Given the description of an element on the screen output the (x, y) to click on. 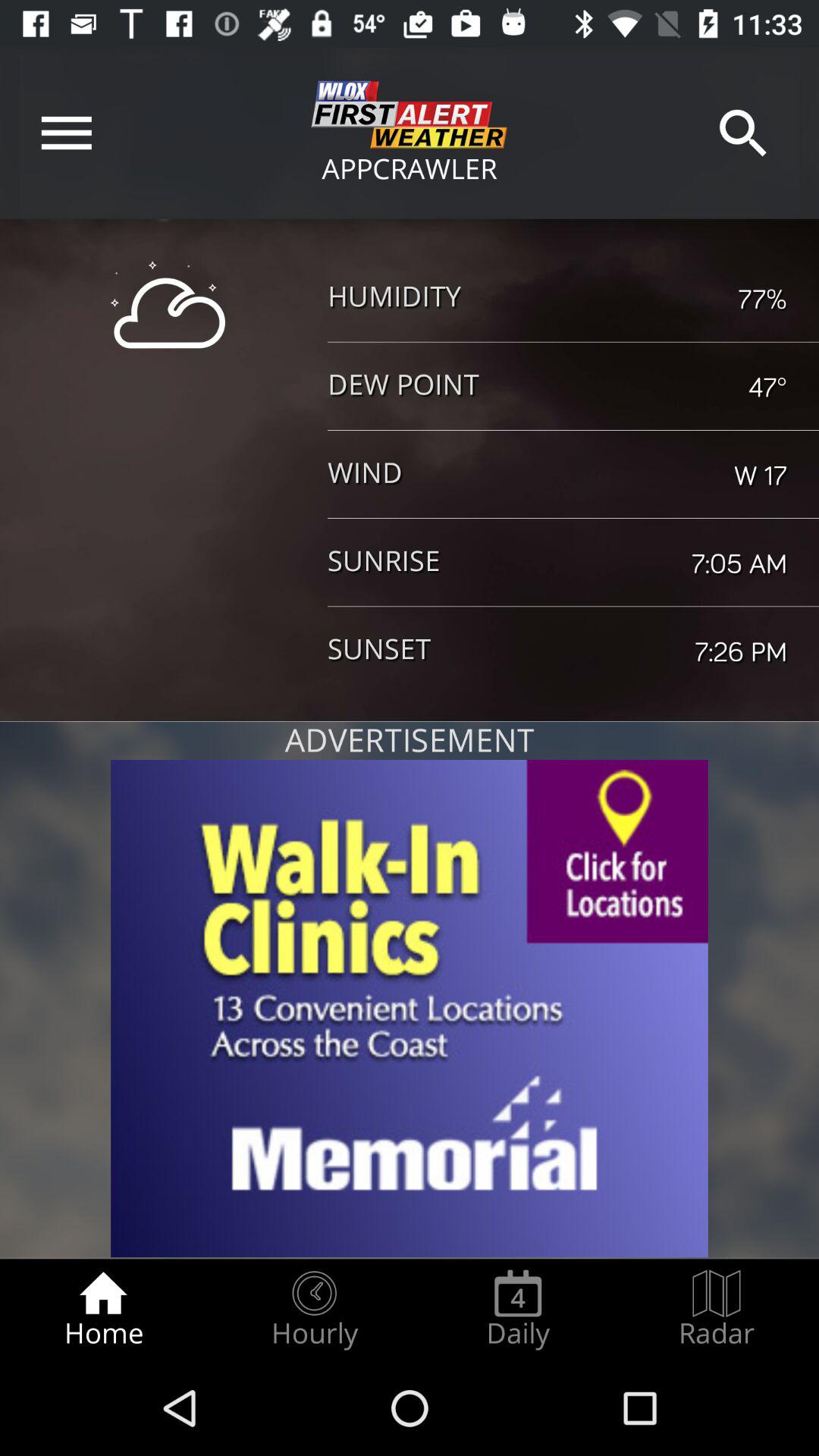
turn on radio button next to radar item (518, 1309)
